Given the description of an element on the screen output the (x, y) to click on. 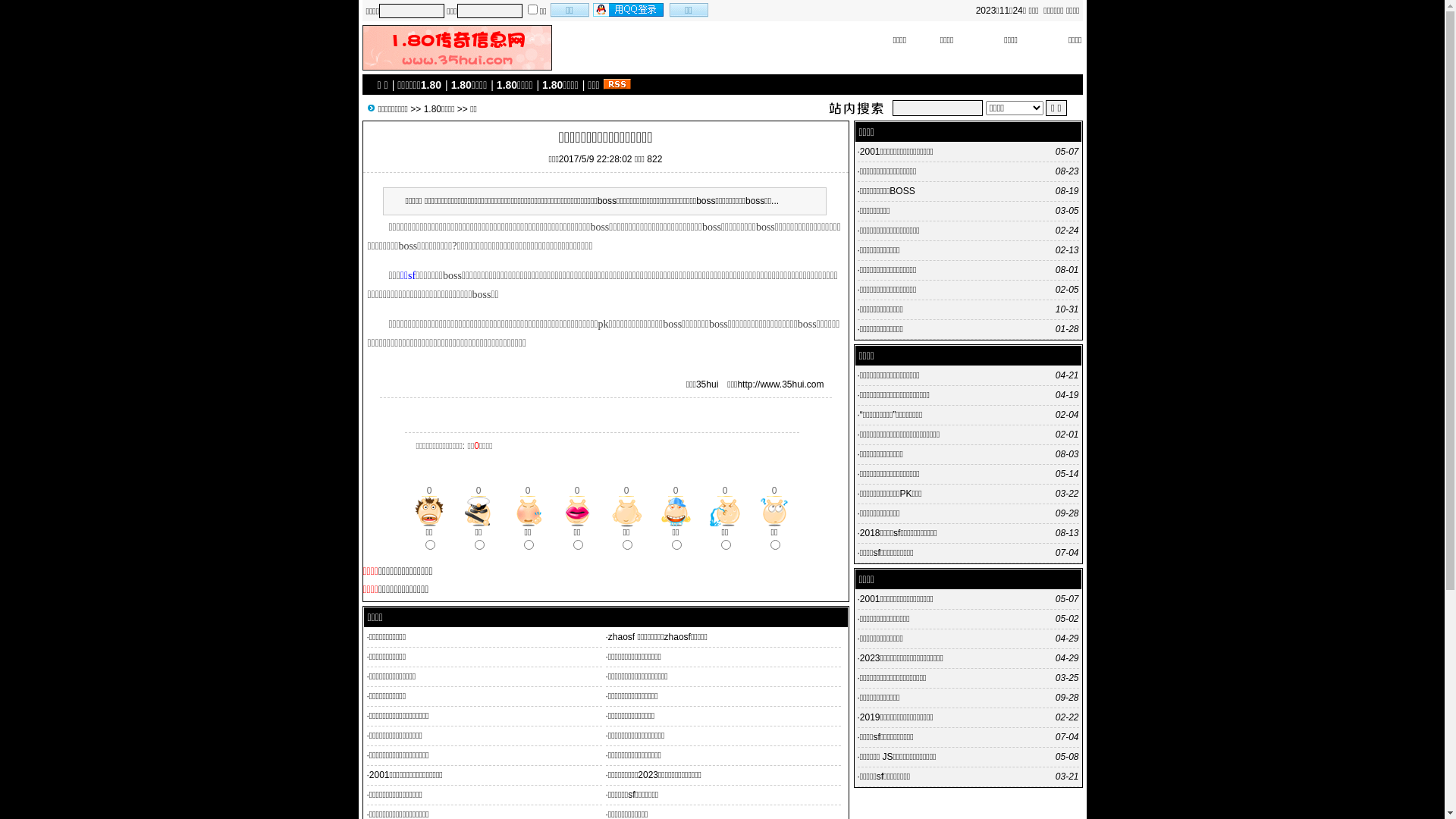
radiobutton Element type: text (775, 544)
radiobutton Element type: text (725, 544)
radiobutton Element type: text (528, 544)
radiobutton Element type: text (676, 544)
radiobutton Element type: text (626, 544)
radiobutton Element type: text (578, 544)
radiobutton Element type: text (479, 544)
radiobutton Element type: text (429, 544)
